Given the description of an element on the screen output the (x, y) to click on. 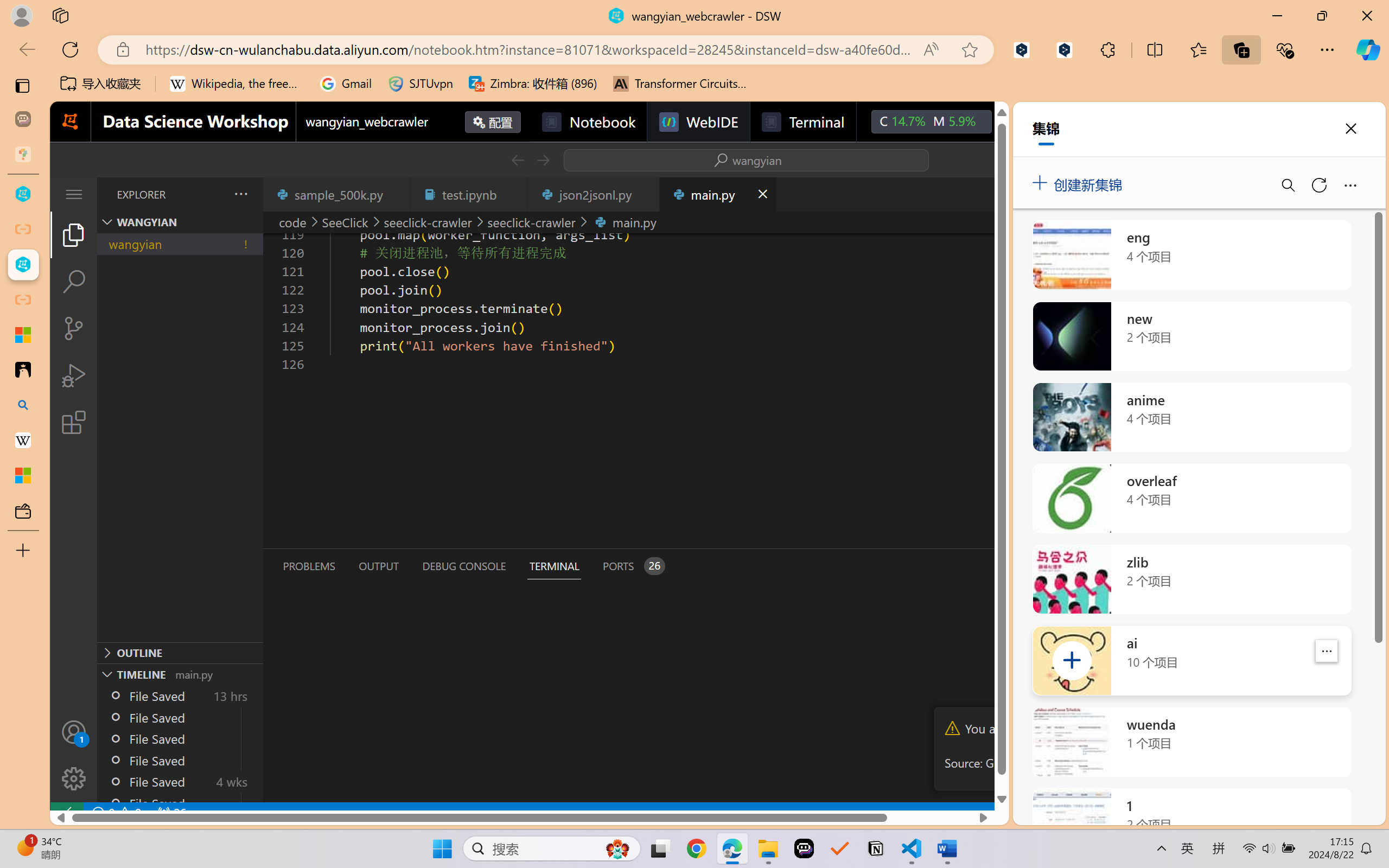
sample_500k.py (336, 194)
Go Back (Alt+LeftArrow) (516, 159)
Ports - 26 forwarded ports (632, 565)
icon (1015, 119)
Manage (73, 755)
Problems (Ctrl+Shift+M) (308, 565)
Timeline Section (179, 673)
wangyian_webcrawler - DSW (22, 264)
main.py (717, 194)
Terminal actions (1002, 565)
